Given the description of an element on the screen output the (x, y) to click on. 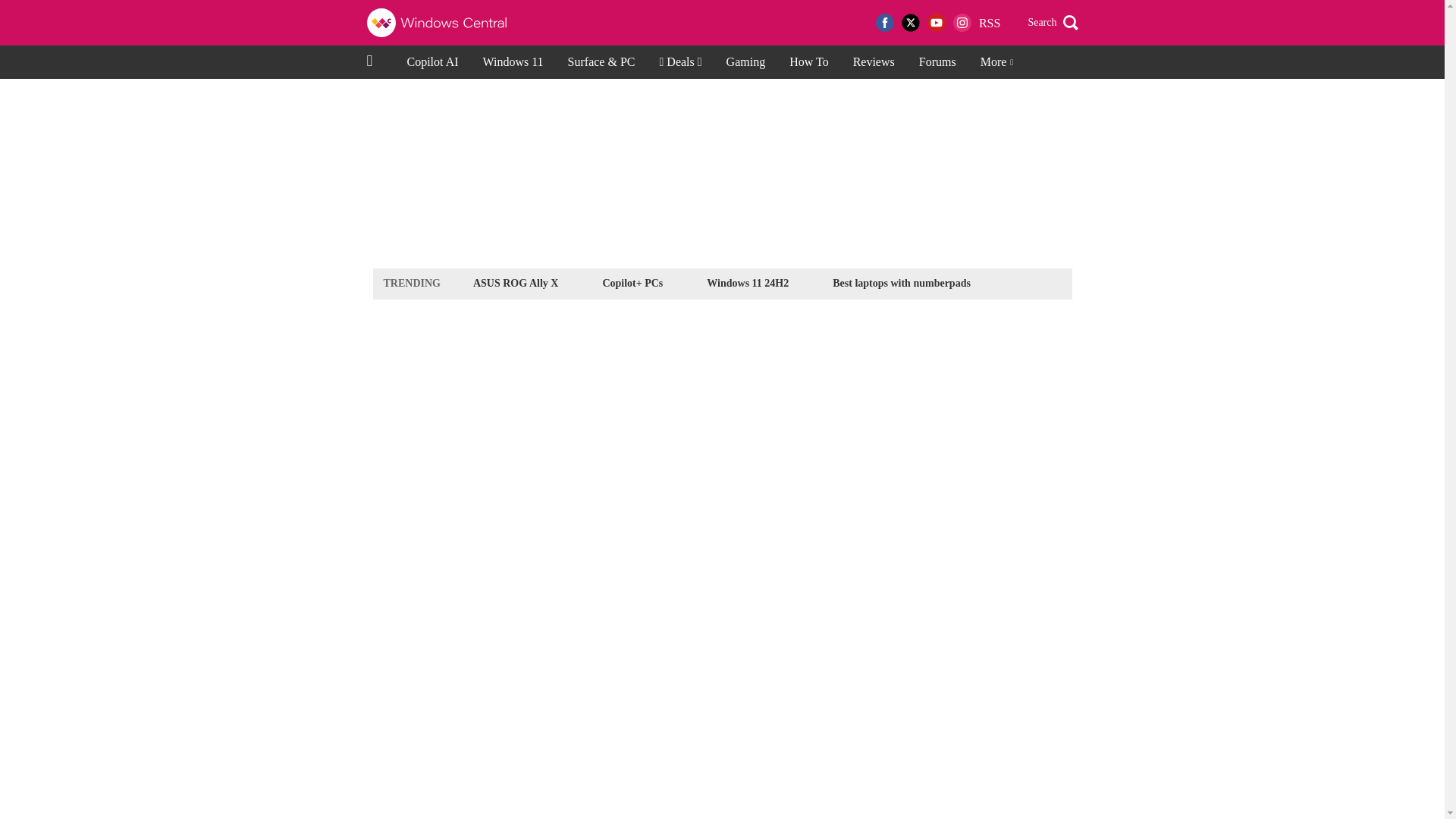
How To (808, 61)
Forums (937, 61)
Reviews (874, 61)
Best laptops with numberpads (901, 282)
Windows 11 (513, 61)
Windows 11 24H2 (747, 282)
RSS (989, 22)
Gaming (745, 61)
Copilot AI (432, 61)
ASUS ROG Ally X (515, 282)
